Given the description of an element on the screen output the (x, y) to click on. 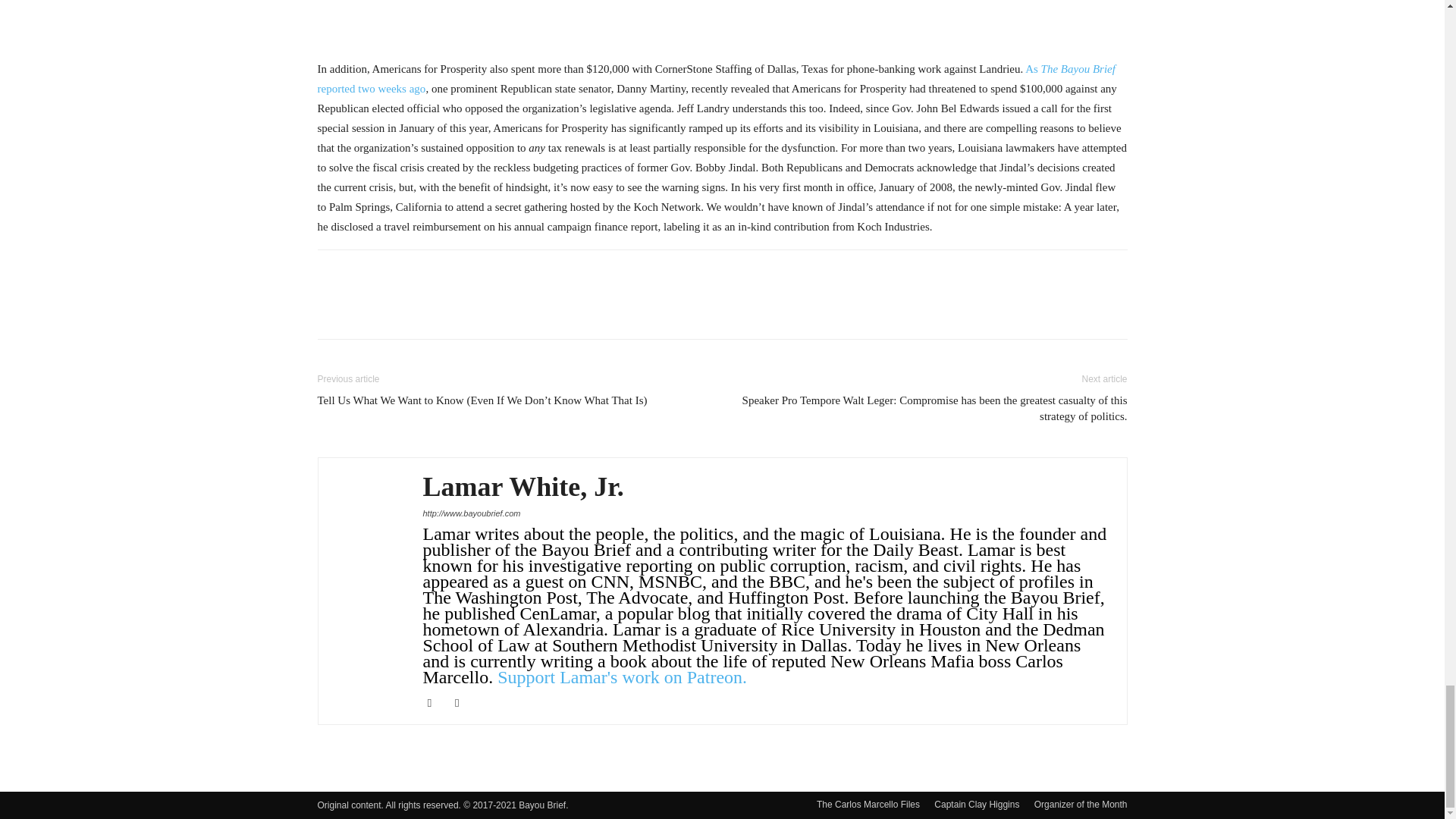
bottomFacebookLike (430, 273)
Twitter (462, 701)
Lamar White, Jr. (523, 486)
Facebook (435, 701)
As The Bayou Brief reported two weeks ago (716, 79)
